Given the description of an element on the screen output the (x, y) to click on. 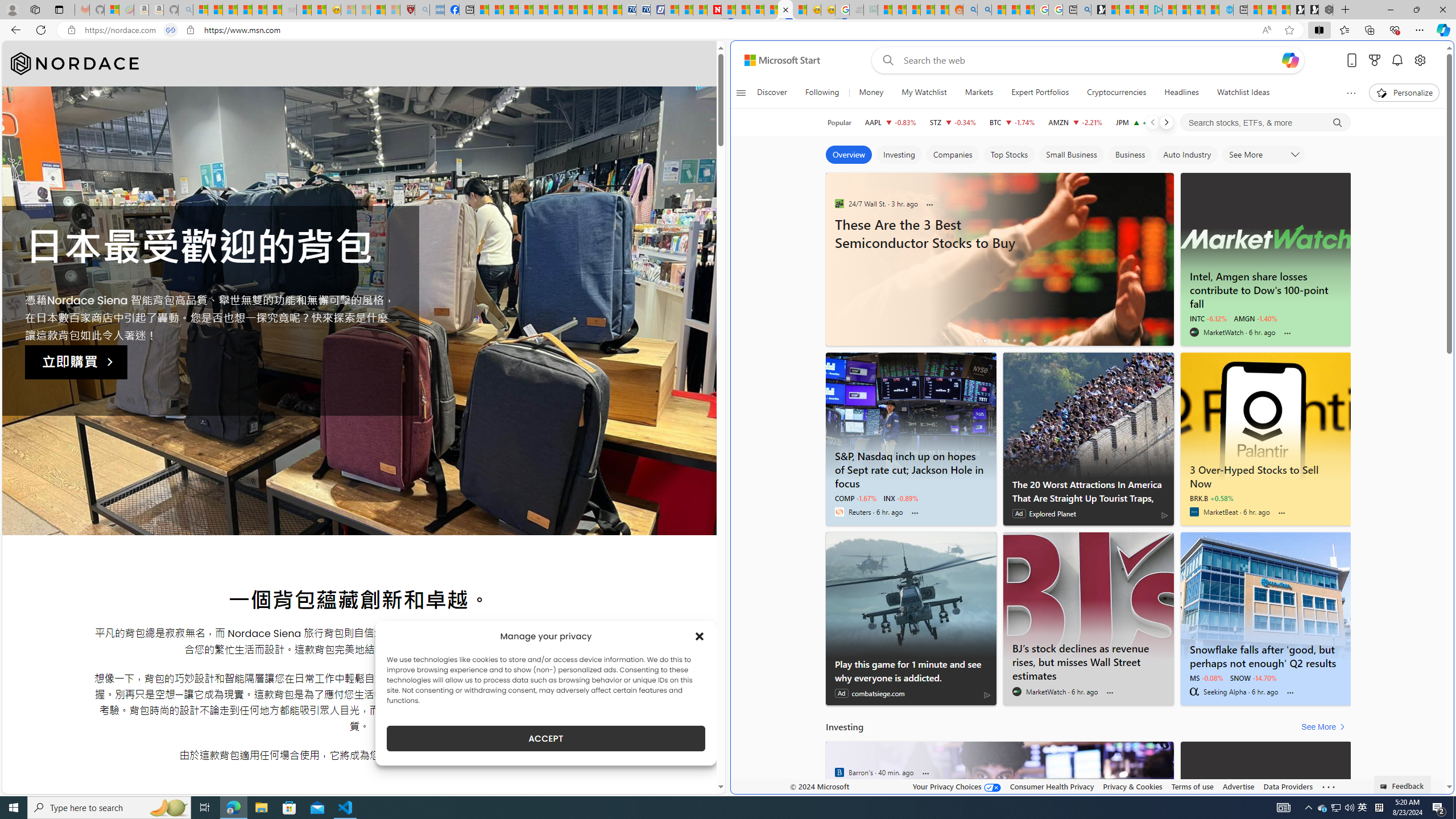
Investing (898, 154)
AAPL APPLE INC. decrease 224.53 -1.87 -0.83% (890, 122)
Climate Damage Becomes Too Severe To Reverse (525, 9)
SNOW -14.70% (1253, 677)
Auto Industry (1187, 154)
ACCEPT (545, 738)
